Given the description of an element on the screen output the (x, y) to click on. 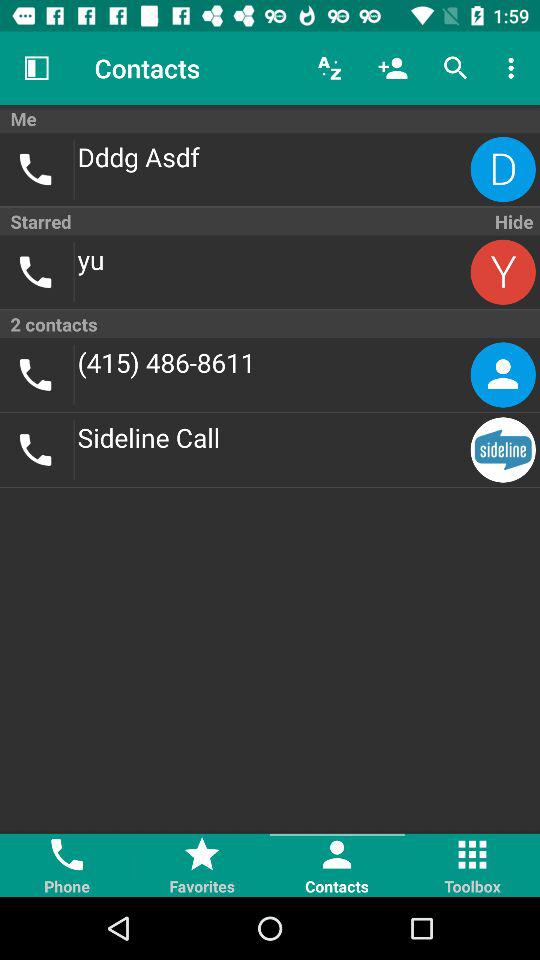
click item next to the contacts icon (36, 68)
